Given the description of an element on the screen output the (x, y) to click on. 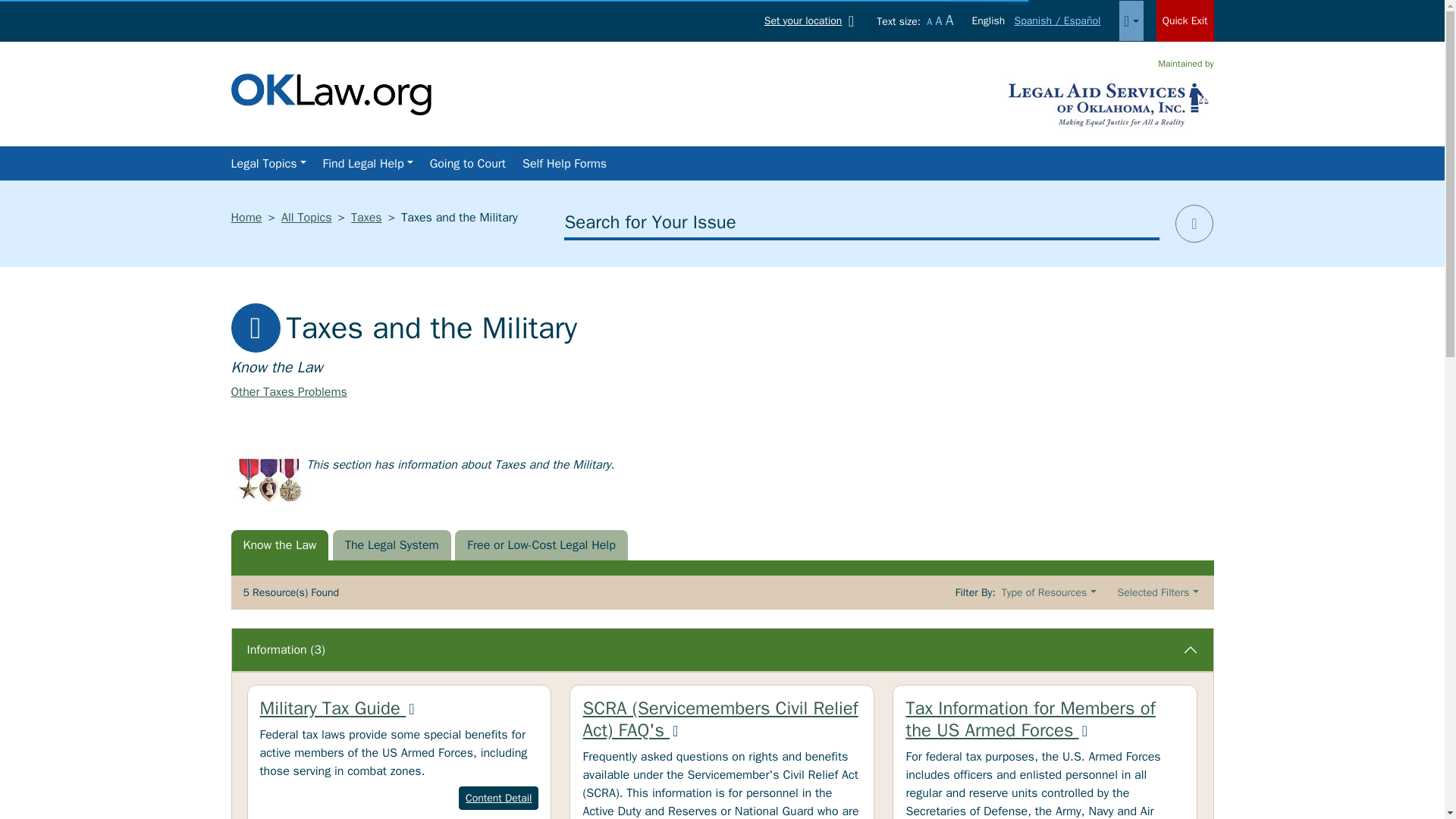
Set your location (812, 20)
Legal Aid Services of Oklahoma (1108, 102)
LegalAidOK.org (330, 92)
Legal Topics (267, 163)
Set your location (812, 20)
Quick Exit (1184, 20)
